Given the description of an element on the screen output the (x, y) to click on. 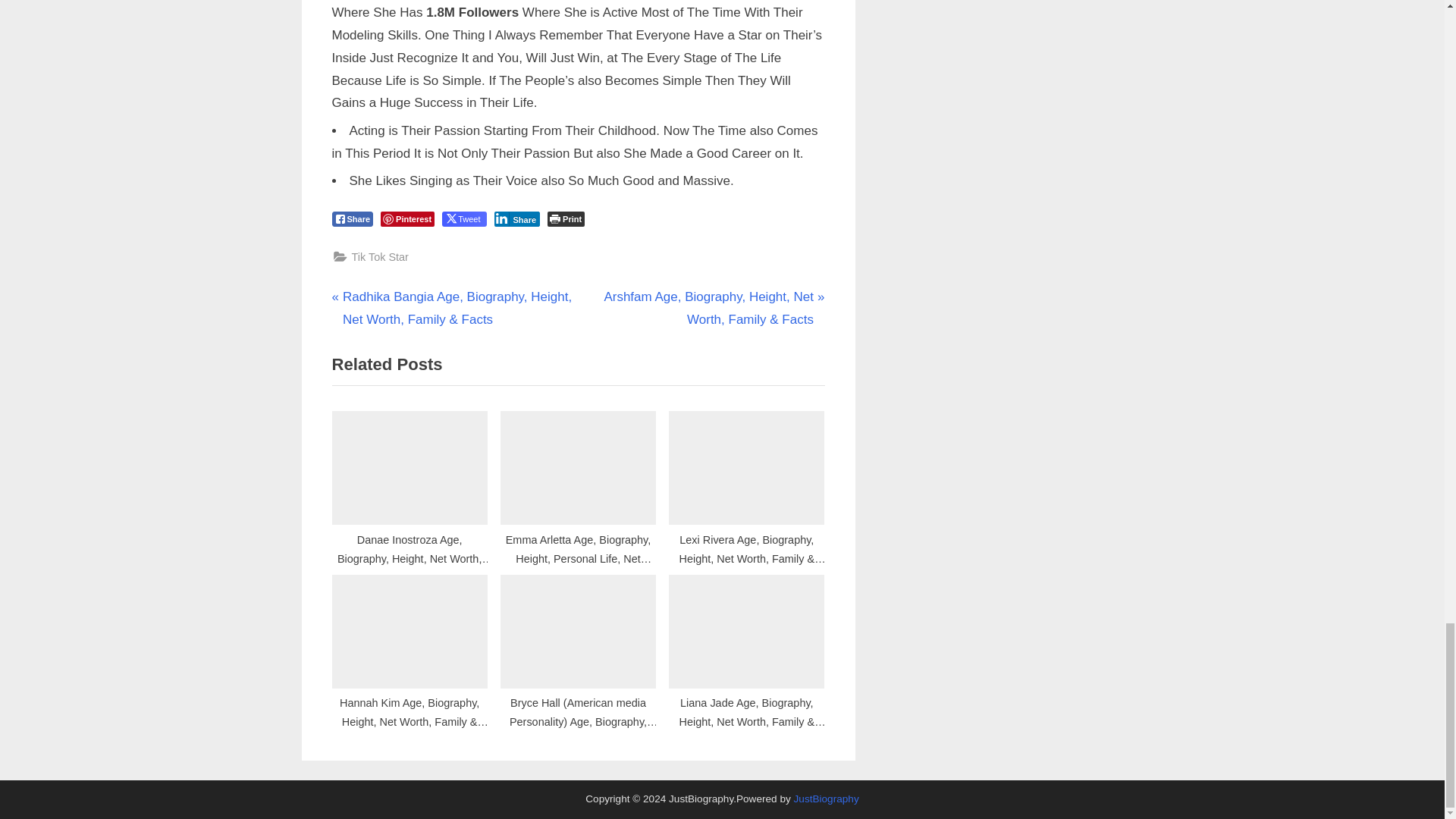
Pinterest (406, 218)
Tweet (464, 218)
Share (352, 218)
Share (517, 218)
